Given the description of an element on the screen output the (x, y) to click on. 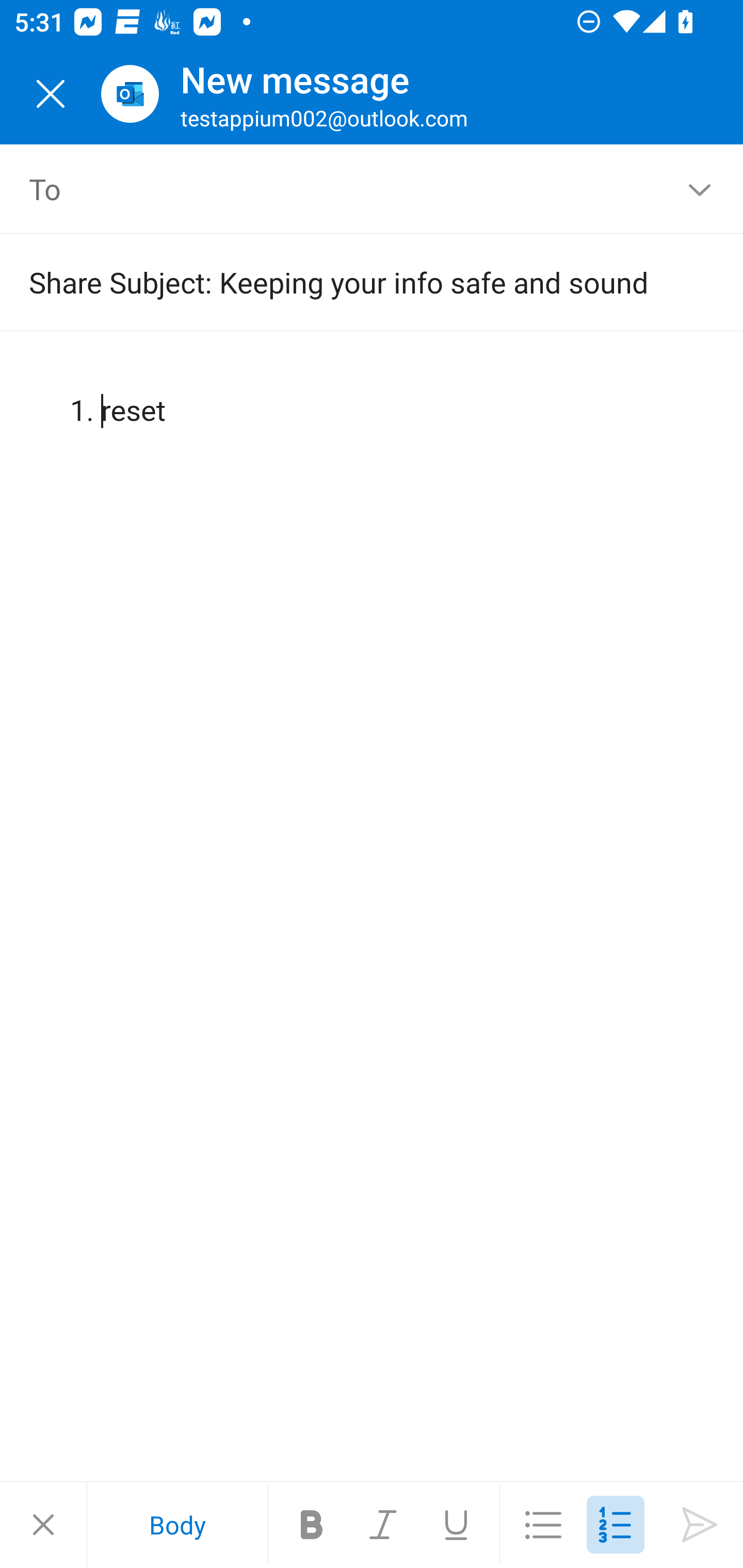
Close (50, 93)
Share Subject: Keeping your info safe and sound (342, 281)

1. reset (372, 394)
Close (43, 1524)
Send (699, 1524)
Font style button body Body (176, 1524)
Bold (311, 1524)
Italics (384, 1524)
Underline (456, 1524)
Bulleted list (543, 1524)
Numbered list (615, 1524)
